Given the description of an element on the screen output the (x, y) to click on. 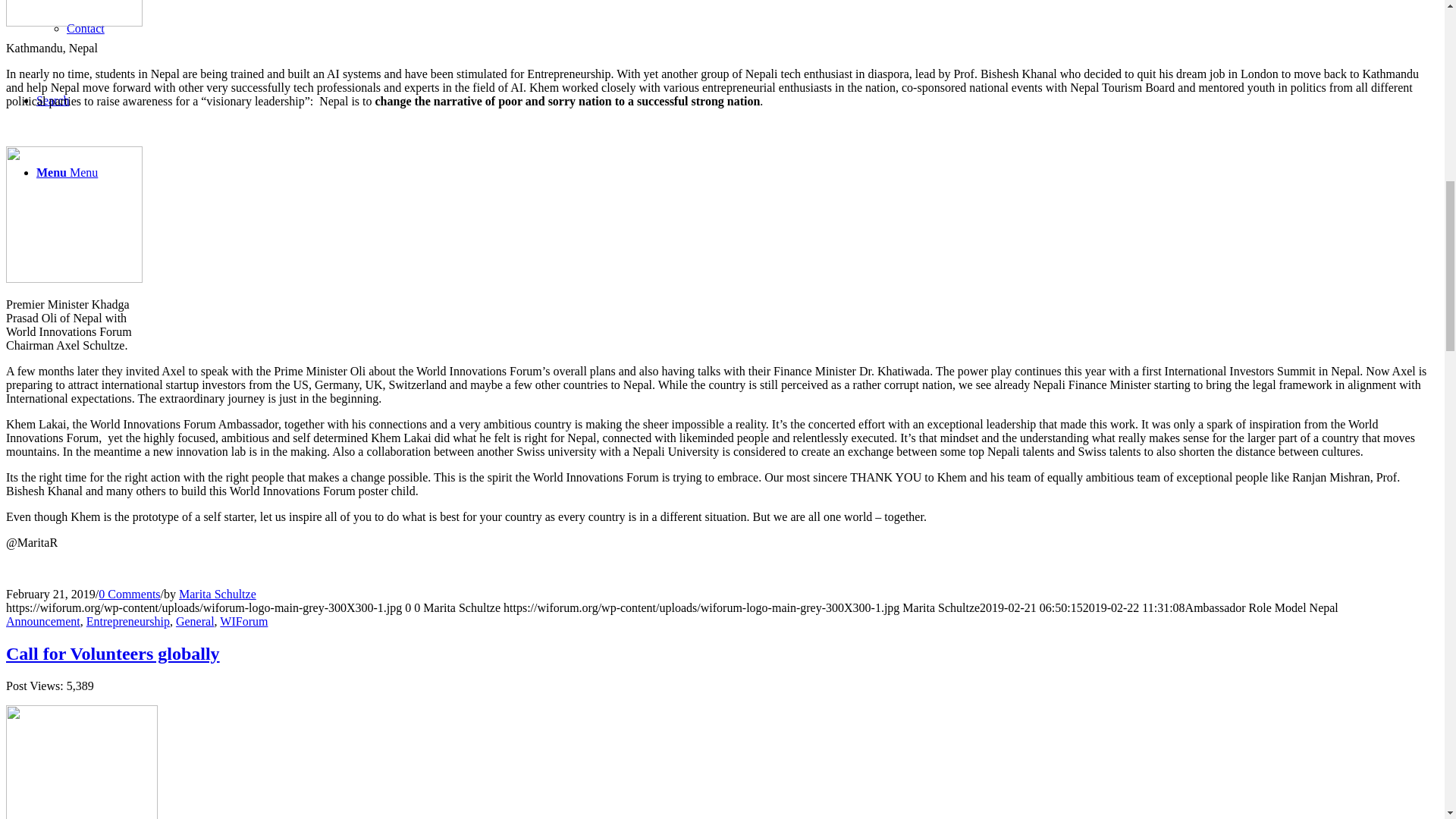
Contact (85, 28)
0 Comments (129, 594)
Menu Menu (66, 172)
Marita Schultze (217, 594)
Search (52, 100)
Entrepreneurship (127, 621)
Permanent Link: Call for Volunteers globally (112, 653)
Call for Volunteers globally (112, 653)
General (195, 621)
Announcement (42, 621)
Posts by Marita Schultze (217, 594)
WIForum (243, 621)
